Given the description of an element on the screen output the (x, y) to click on. 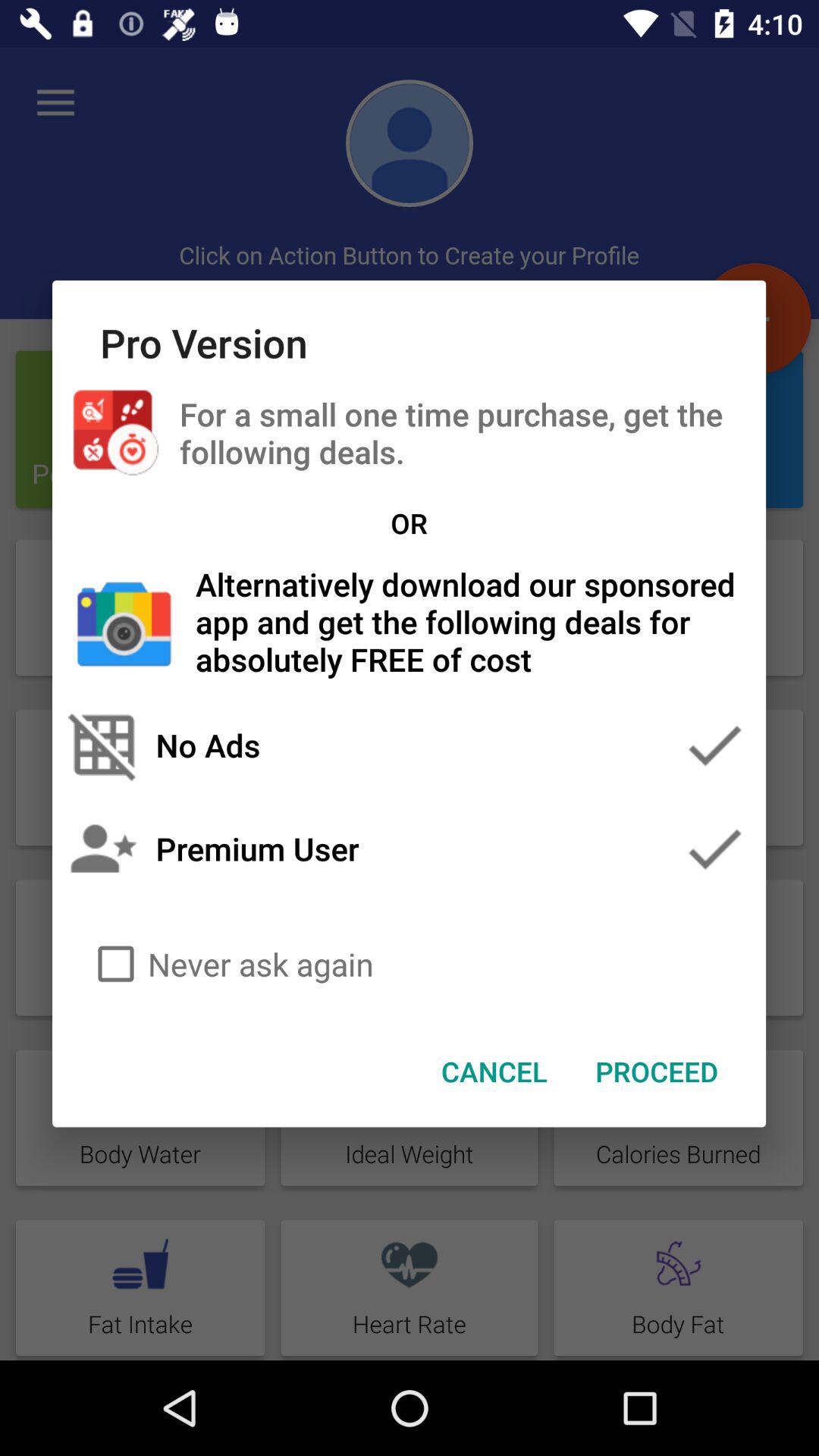
flip until the proceed item (656, 1071)
